Given the description of an element on the screen output the (x, y) to click on. 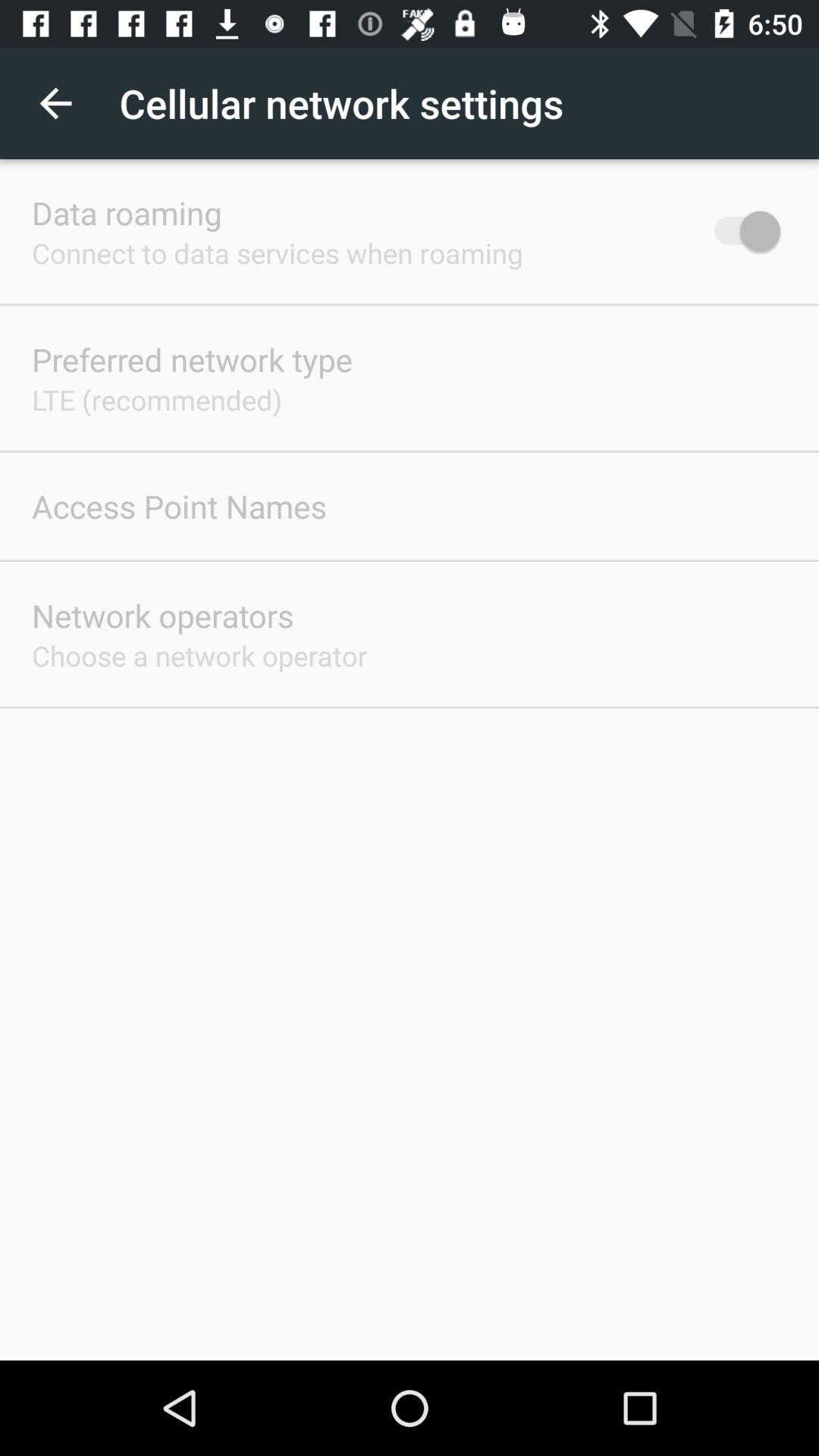
press the item to the left of cellular network settings item (55, 103)
